Given the description of an element on the screen output the (x, y) to click on. 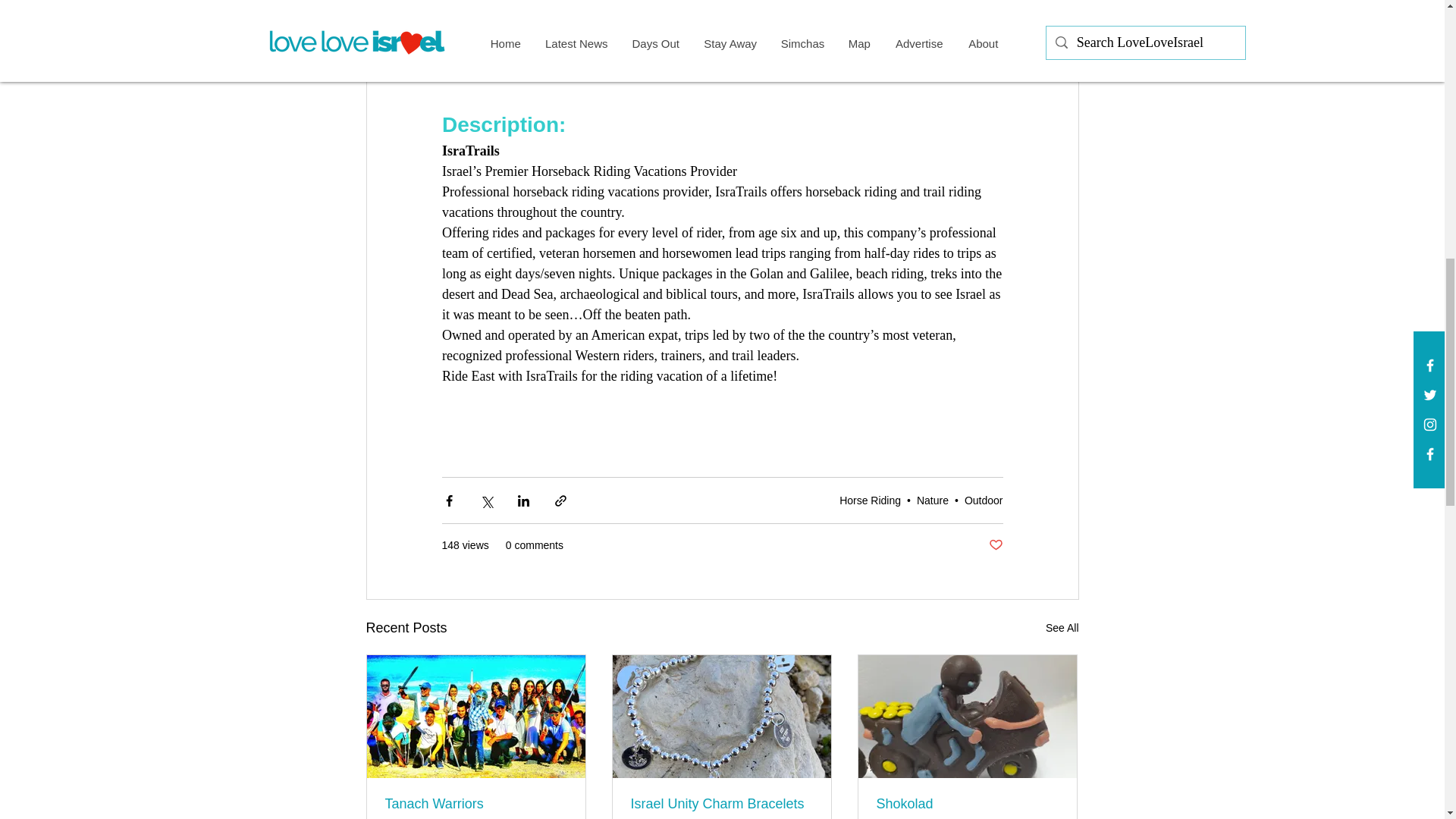
See All (1061, 628)
Post not marked as liked (995, 545)
Tanach Warriors (476, 804)
Outdoor (983, 500)
Nature (933, 500)
Shokolad (967, 804)
Horse Riding (870, 500)
Israel Unity Charm Bracelets (721, 804)
